Given the description of an element on the screen output the (x, y) to click on. 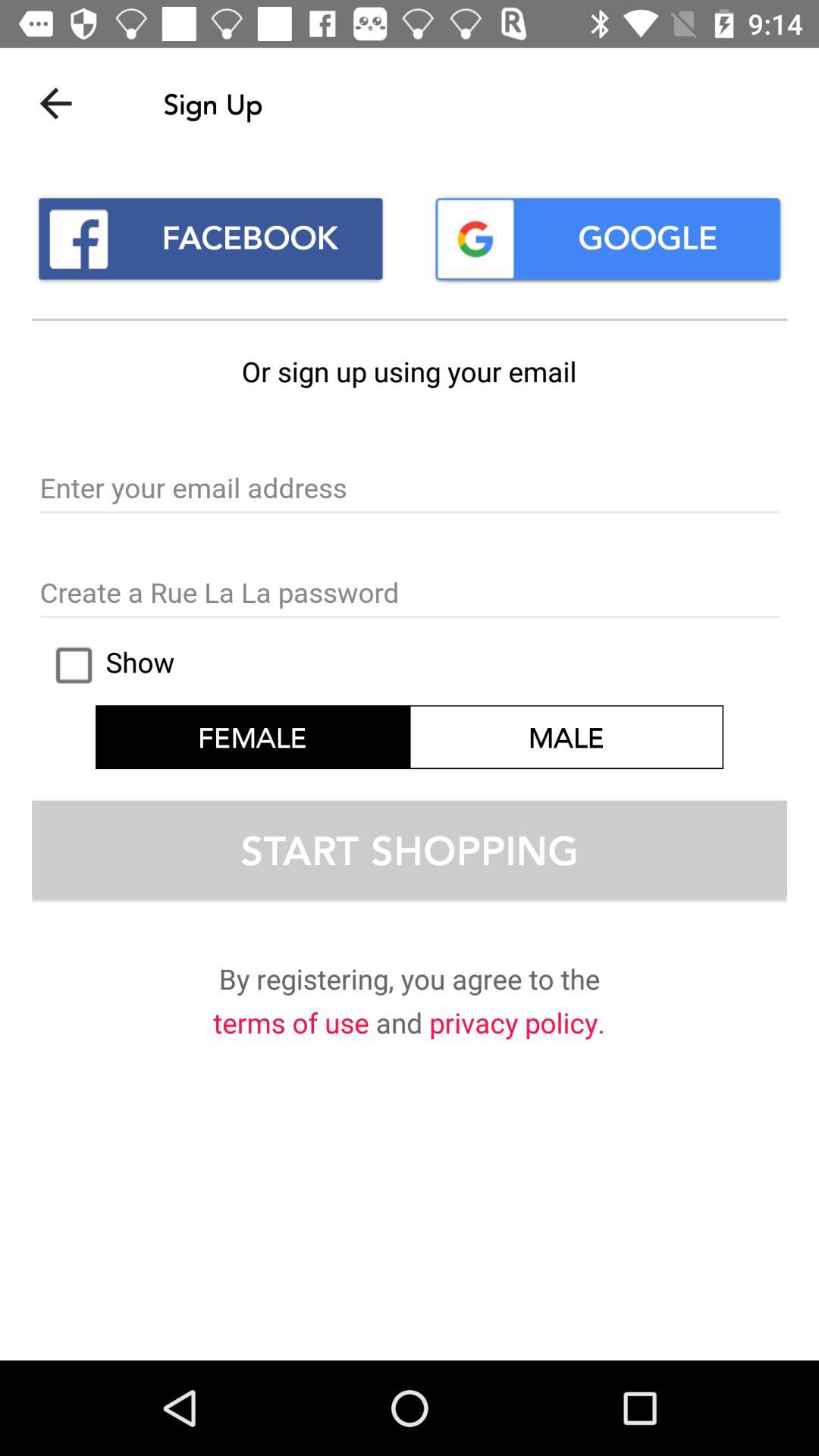
launch the privacy policy item (513, 1025)
